Given the description of an element on the screen output the (x, y) to click on. 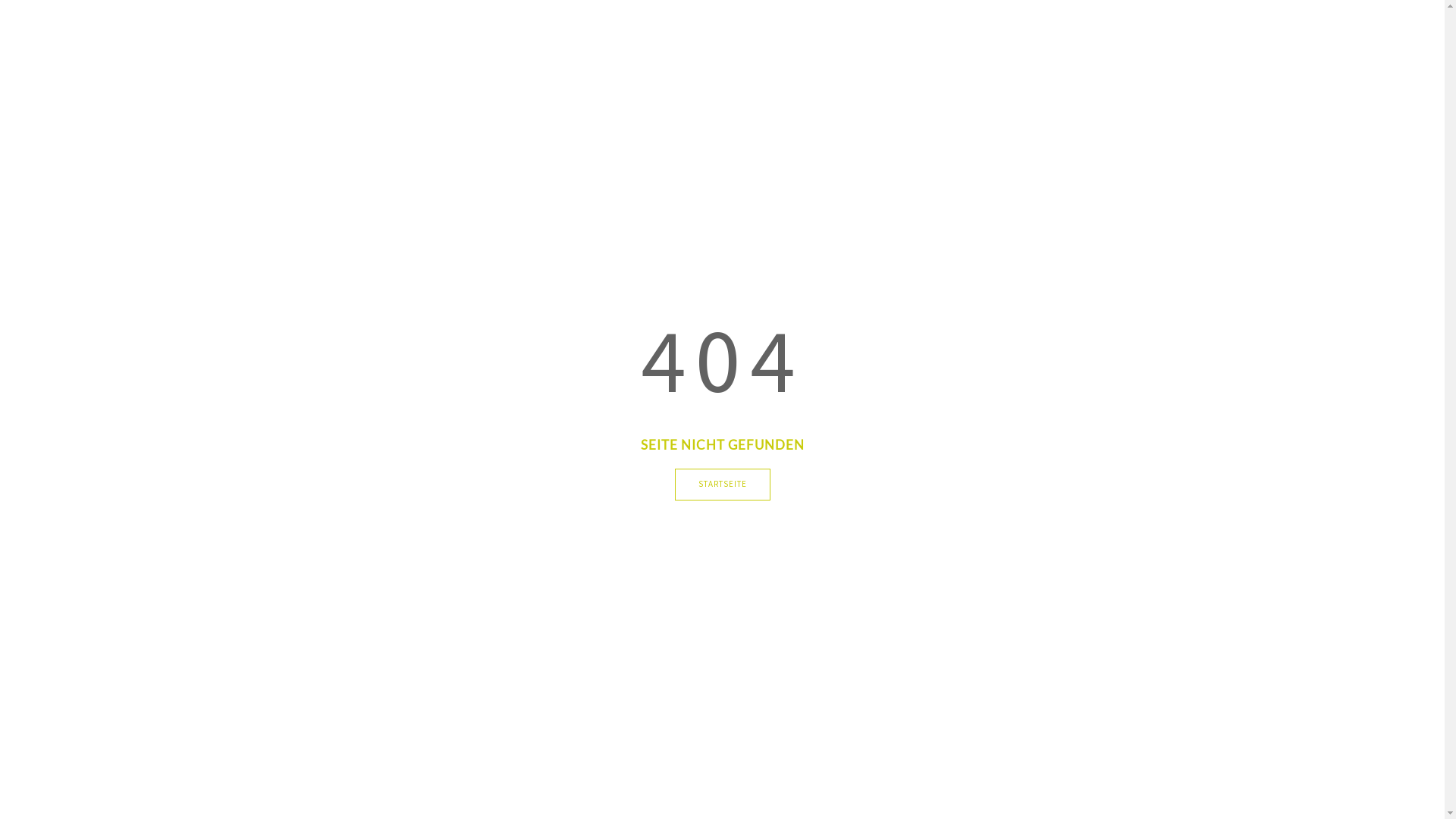
STARTSEITE Element type: text (722, 484)
